Given the description of an element on the screen output the (x, y) to click on. 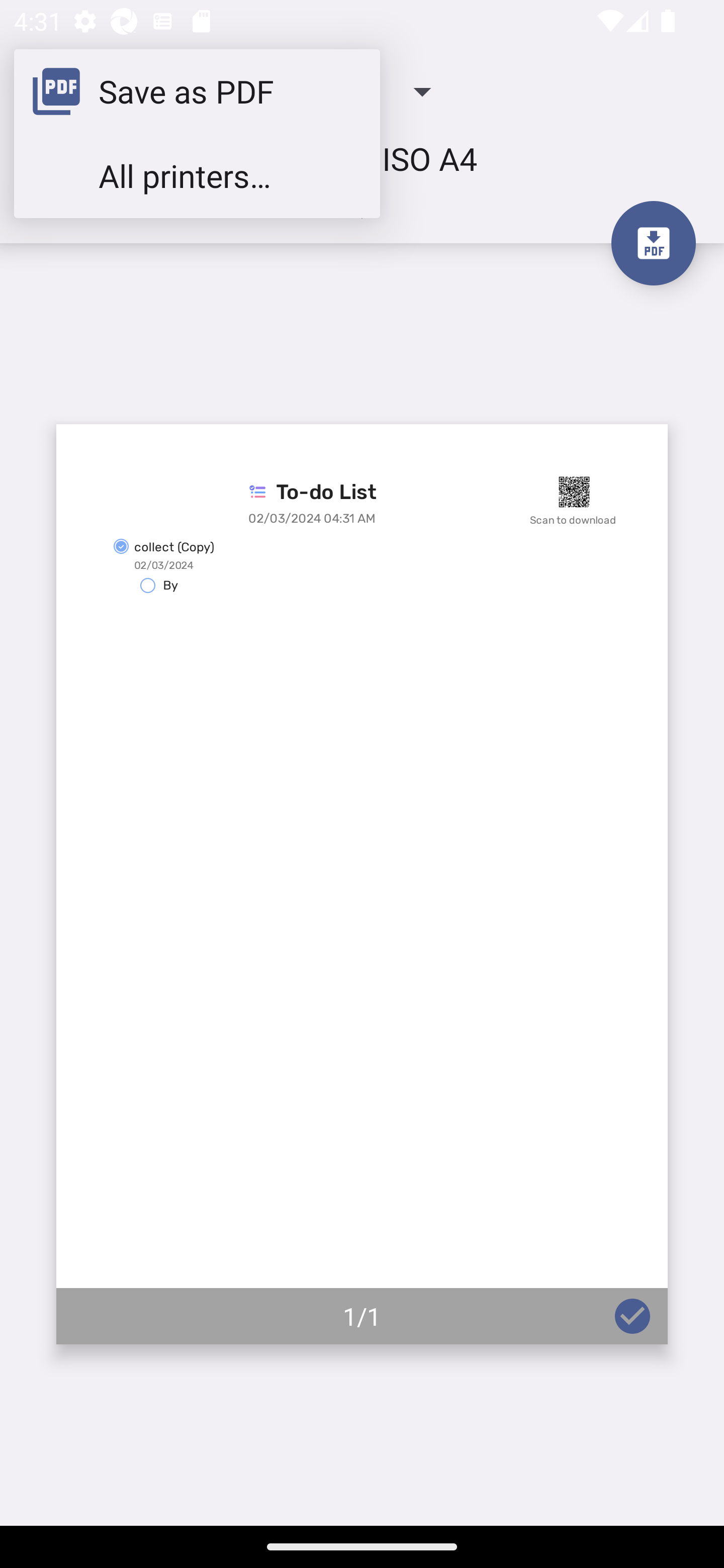
Save as PDF (196, 90)
All printers… (196, 175)
